Given the description of an element on the screen output the (x, y) to click on. 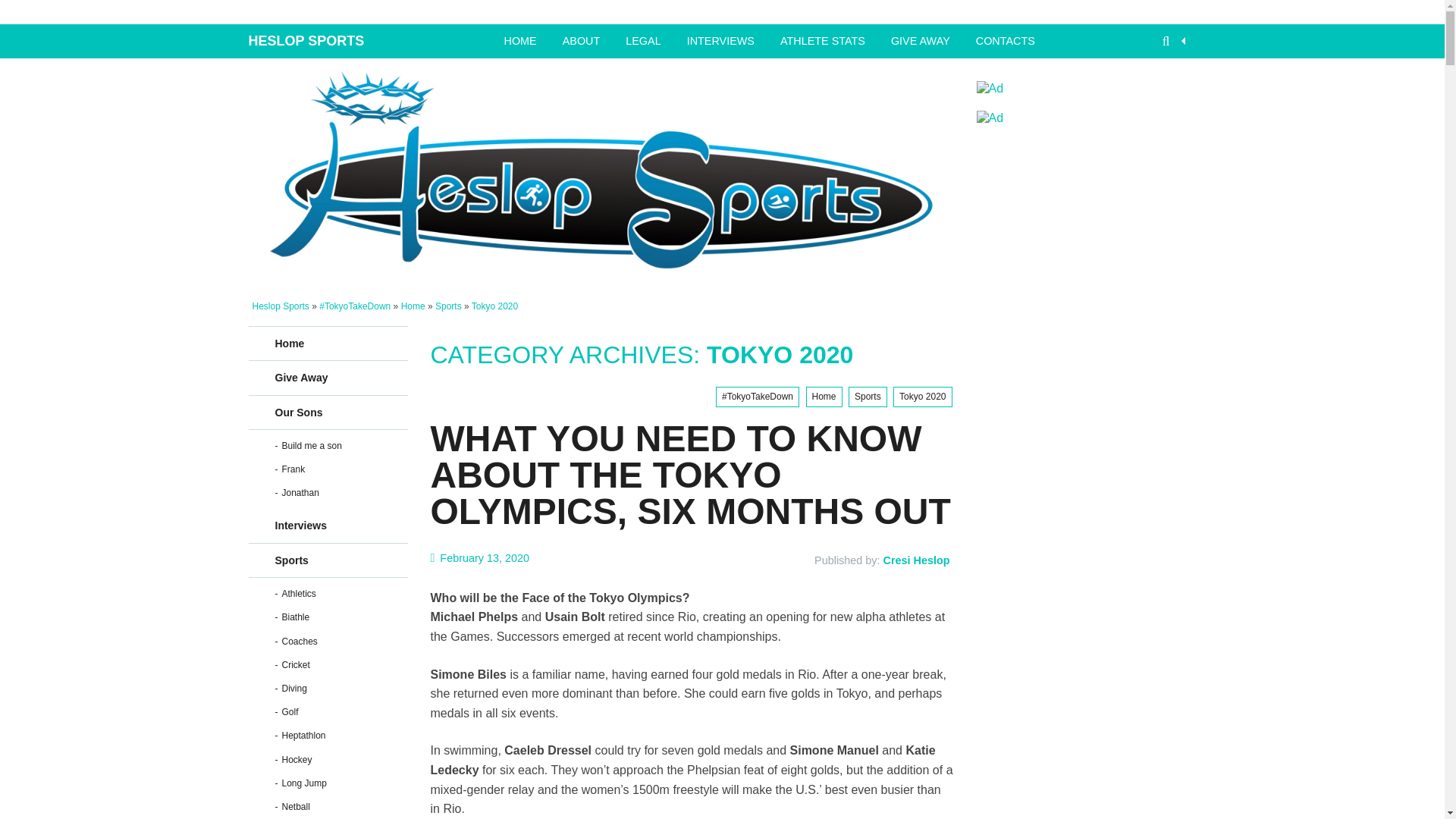
ATHLETE STATS (822, 41)
Heslop Sports (335, 41)
INTERVIEWS (720, 41)
5:33 pm (479, 557)
Home (823, 396)
Tokyo 2020 (922, 396)
February 13, 2020 (479, 557)
Sports (867, 396)
Cresi Heslop (916, 560)
